Given the description of an element on the screen output the (x, y) to click on. 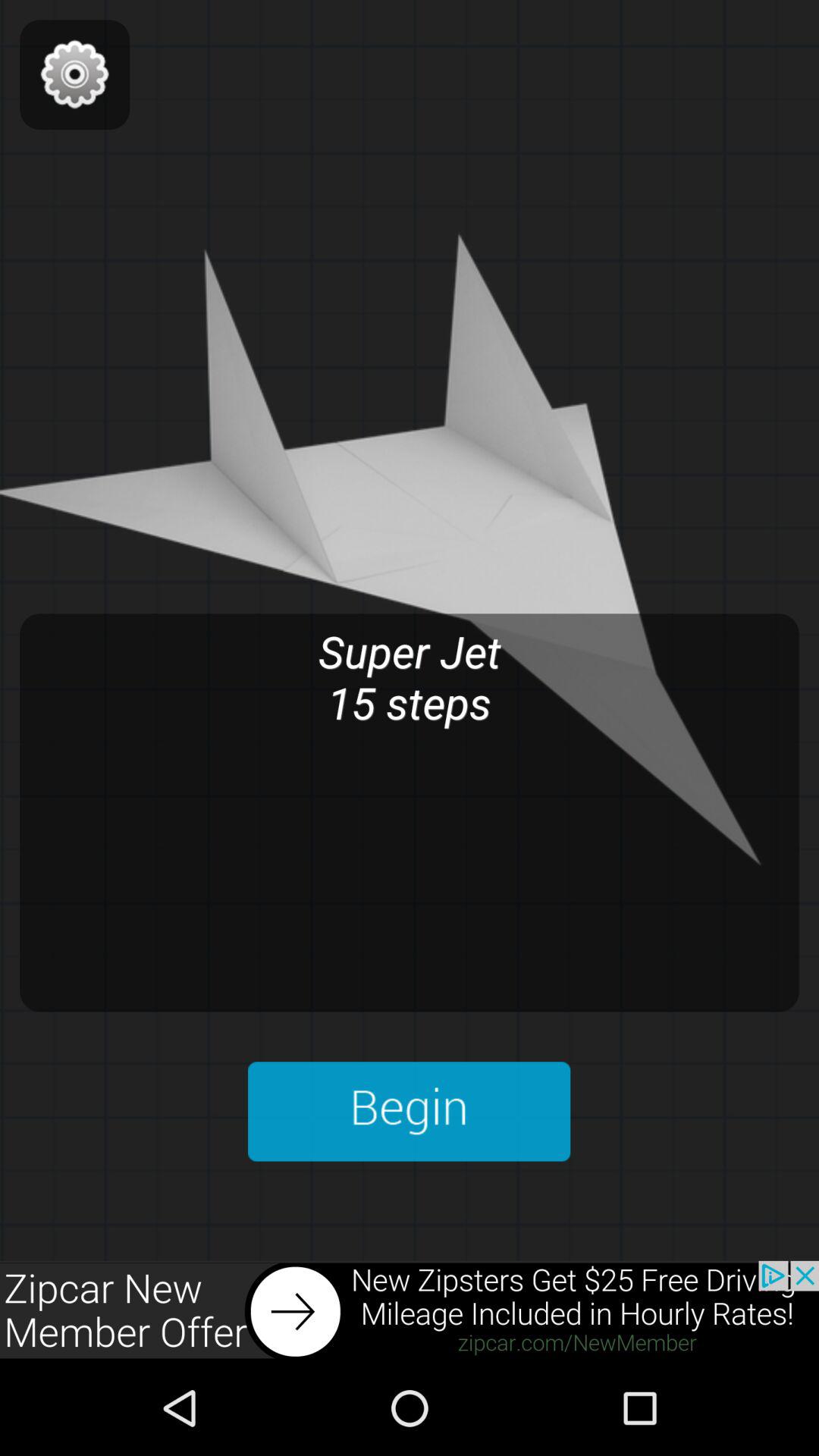
advertisement link to the website (409, 1310)
